Given the description of an element on the screen output the (x, y) to click on. 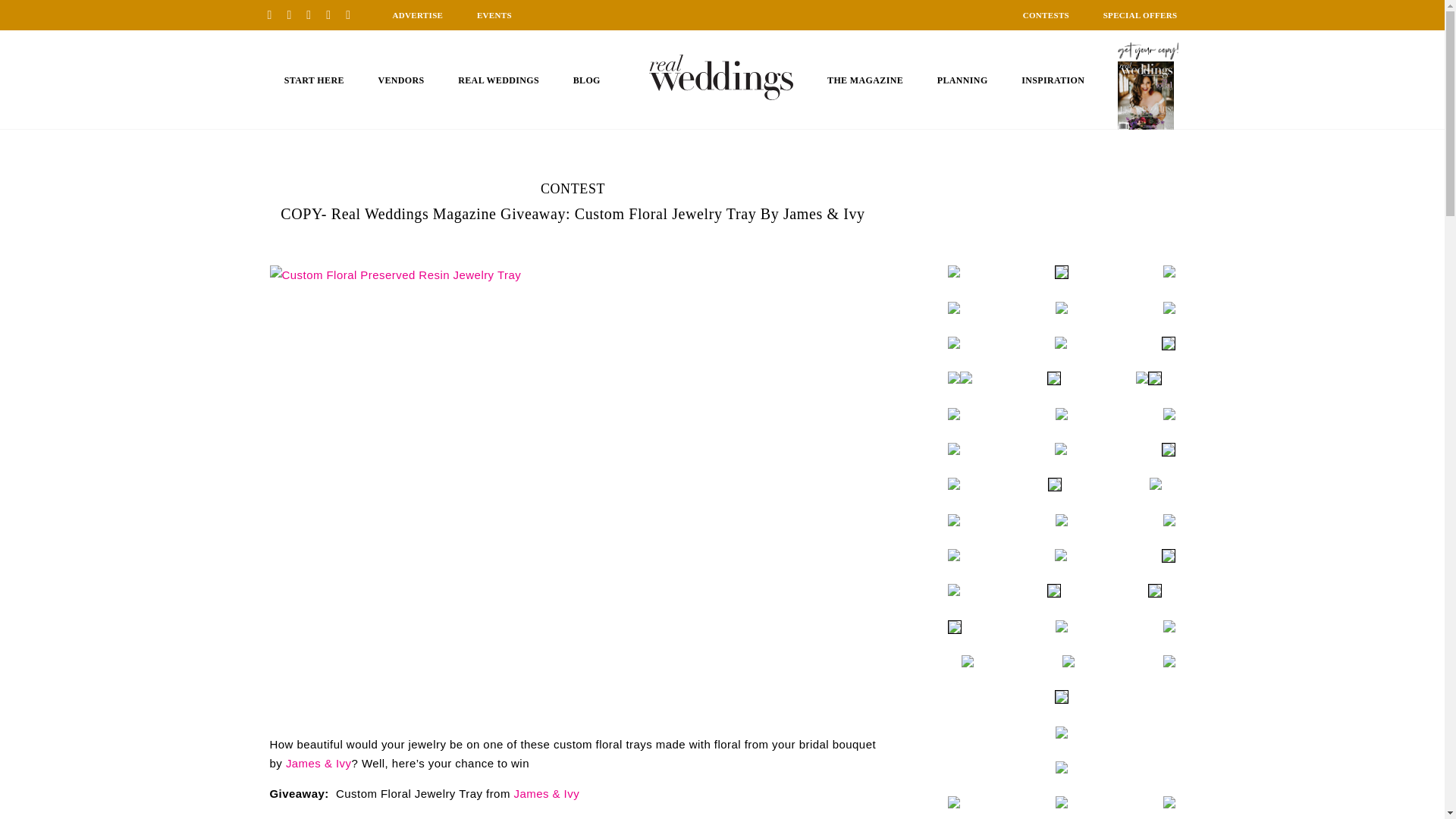
SPECIAL OFFERS (1140, 14)
Facebook (294, 14)
YouTube (353, 14)
Pinterest (274, 14)
ADVERTISE (416, 14)
START HERE (313, 80)
PLANNING (962, 80)
Twitter (334, 14)
Instagram (313, 14)
CONTESTS (1045, 14)
